Given the description of an element on the screen output the (x, y) to click on. 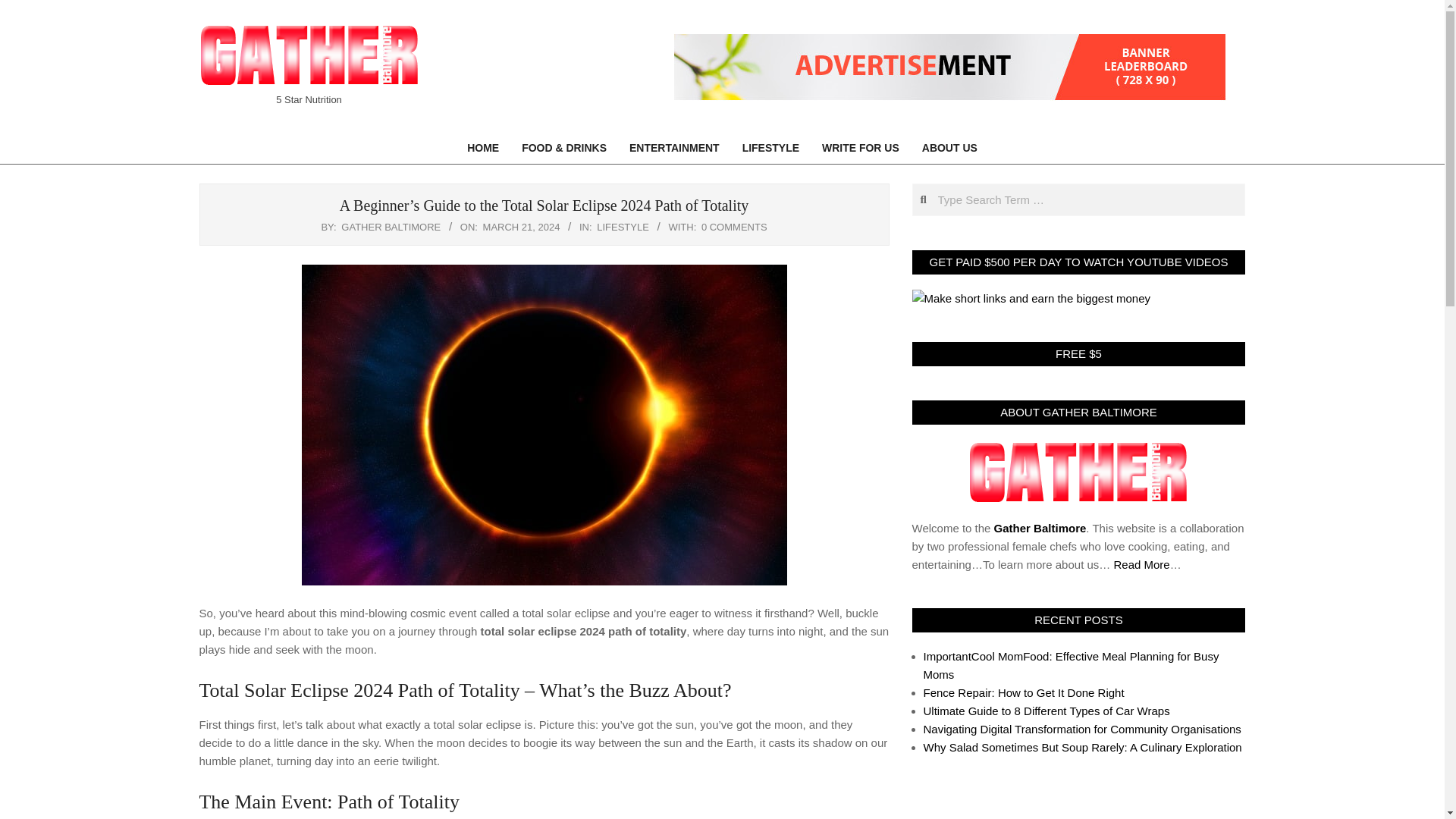
Gather Baltimore (1040, 527)
Make short links and earn the biggest money (1030, 298)
ImportantCool MomFood: Effective Meal Planning for Busy Moms (1071, 665)
Thursday, March 21, 2024, 5:42 am (521, 226)
Fence Repair: How to Get It Done Right (1023, 692)
HOME (483, 147)
Read More (1141, 563)
Why Salad Sometimes But Soup Rarely: A Culinary Exploration (1082, 747)
Posts by Gather Baltimore (390, 226)
ABOUT US (949, 147)
Ultimate Guide to 8 Different Types of Car Wraps (1046, 710)
GATHER BALTIMORE (390, 226)
LIFESTYLE (622, 226)
0 COMMENTS (734, 226)
